Given the description of an element on the screen output the (x, y) to click on. 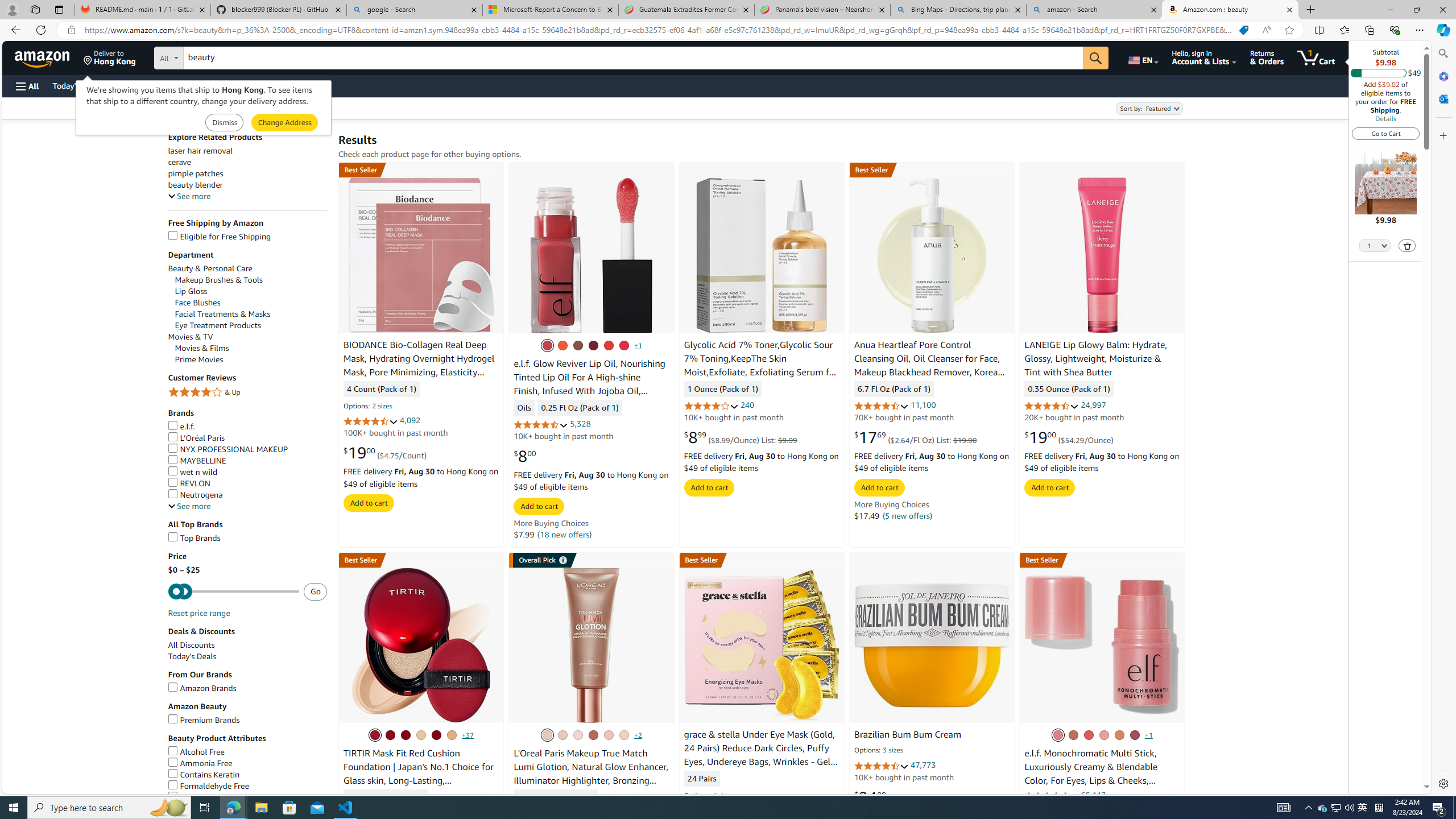
Delete (1407, 245)
Fair (607, 734)
$8.00 (524, 455)
pimple patches (195, 173)
24N Latte (451, 734)
Deliver to Hong Kong (109, 57)
+37 (467, 734)
11,100 (923, 404)
